Given the description of an element on the screen output the (x, y) to click on. 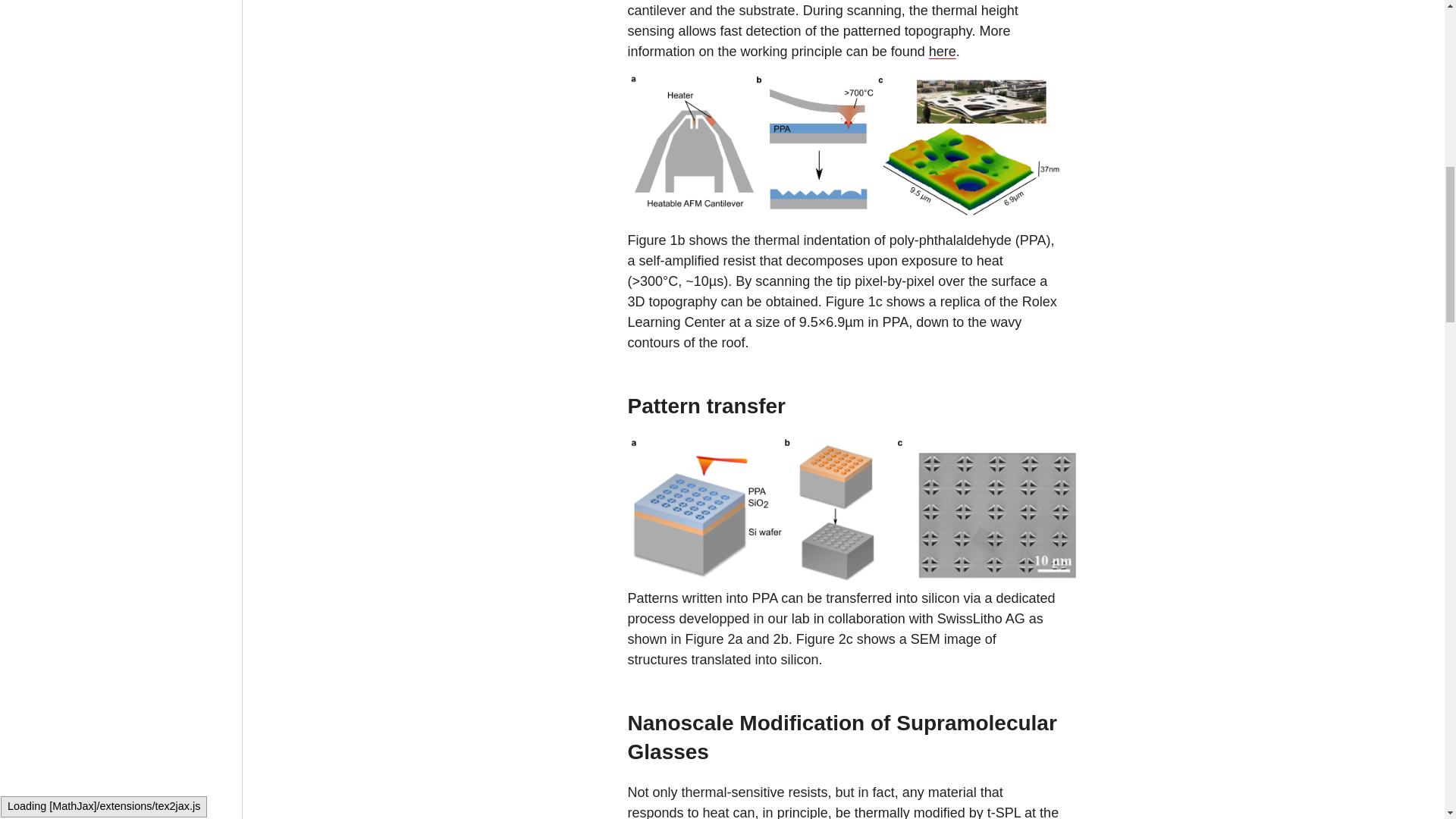
here (942, 51)
